Given the description of an element on the screen output the (x, y) to click on. 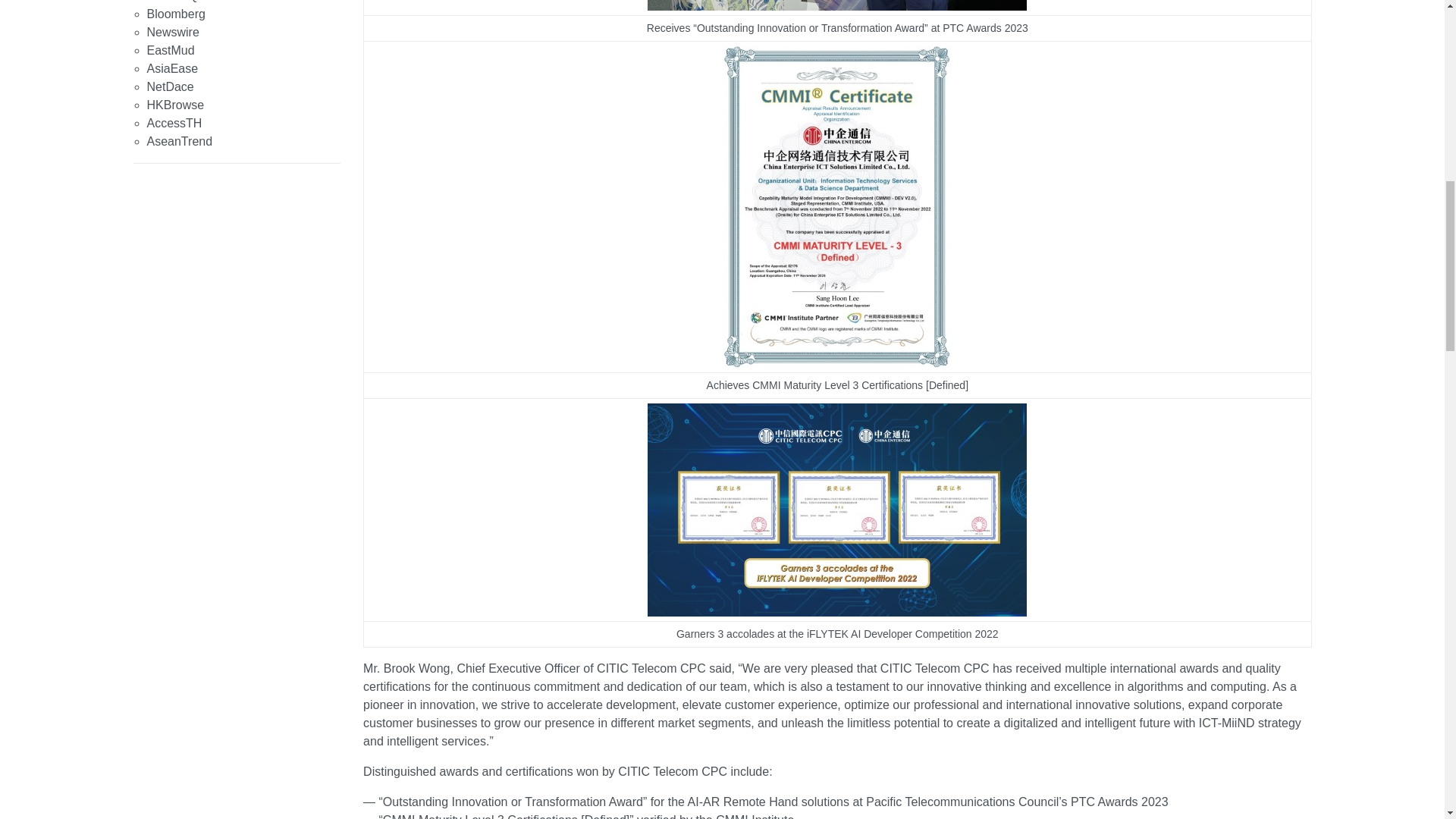
AseanTrend (179, 141)
Bloomberg (176, 13)
AccessTH (174, 123)
HKBrowse (176, 104)
Newswire (173, 31)
NASDAQ (172, 1)
EastMud (171, 50)
NetDace (170, 86)
AsiaEase (172, 68)
